Given the description of an element on the screen output the (x, y) to click on. 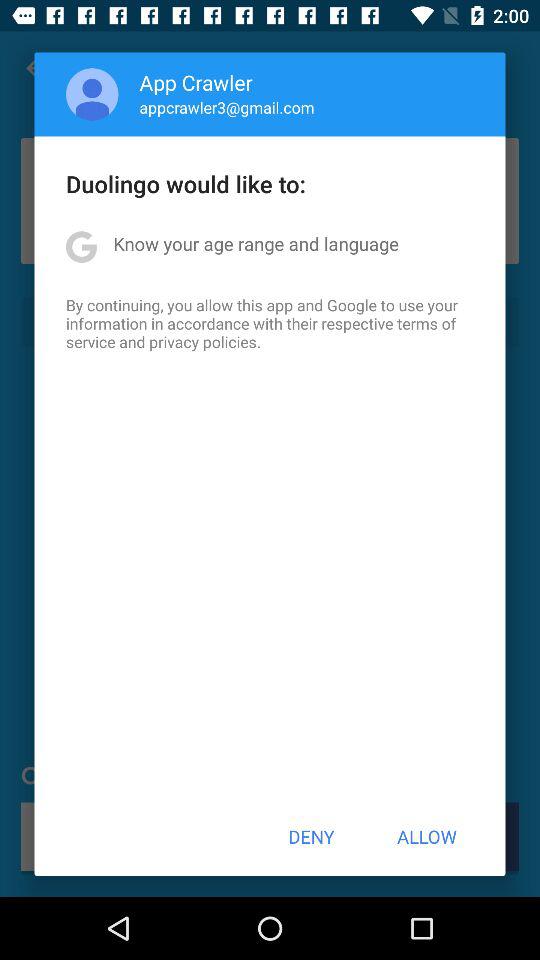
press app above appcrawler3@gmail.com item (195, 82)
